Given the description of an element on the screen output the (x, y) to click on. 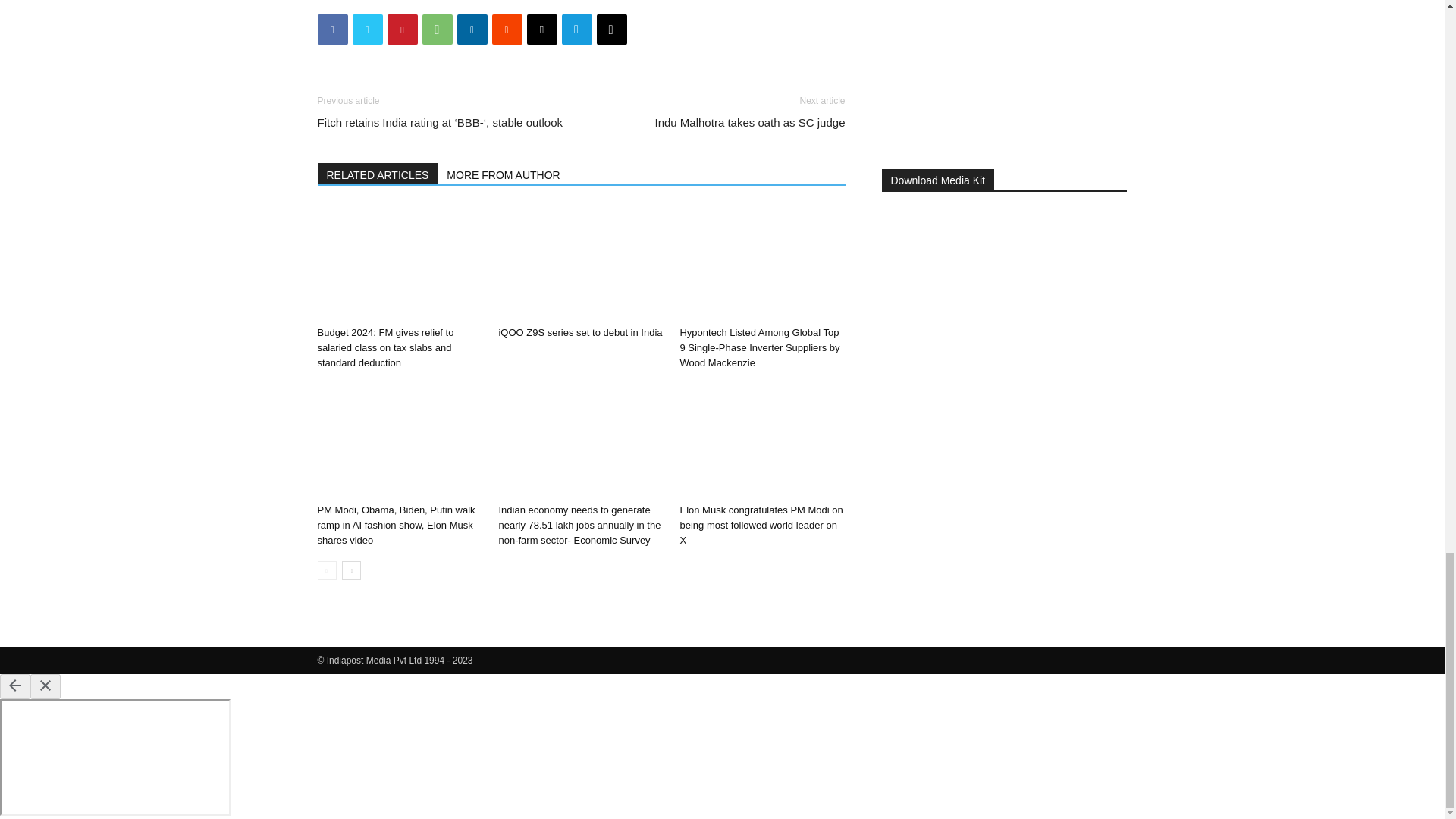
Email (540, 29)
Pinterest (401, 29)
Twitter (366, 29)
ReddIt (506, 29)
WhatsApp (436, 29)
Linkedin (471, 29)
Facebook (332, 29)
